Given the description of an element on the screen output the (x, y) to click on. 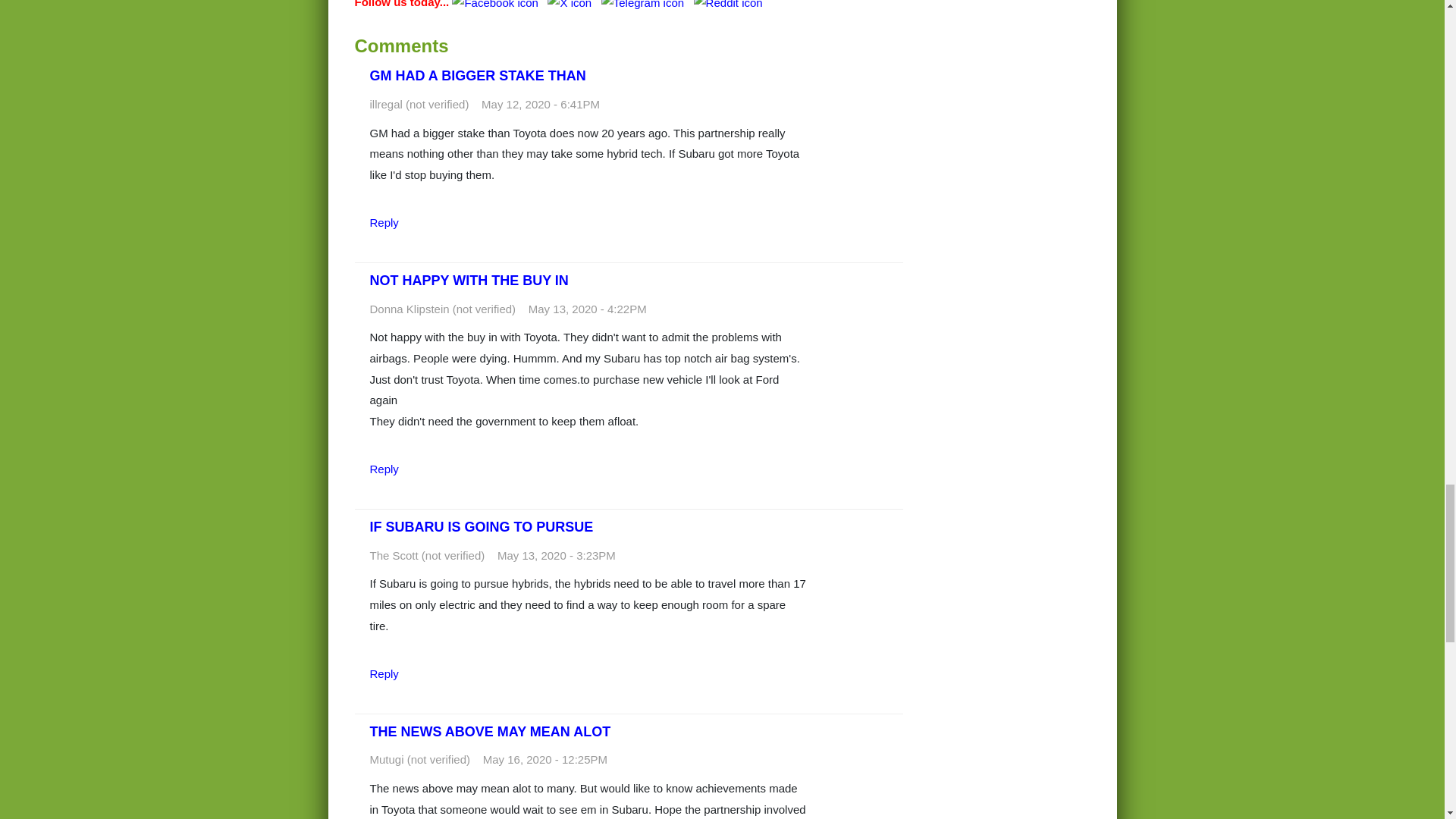
Join us on Telegram! (644, 4)
GM HAD A BIGGER STAKE THAN (477, 75)
Join us on Reddit! (728, 4)
